Given the description of an element on the screen output the (x, y) to click on. 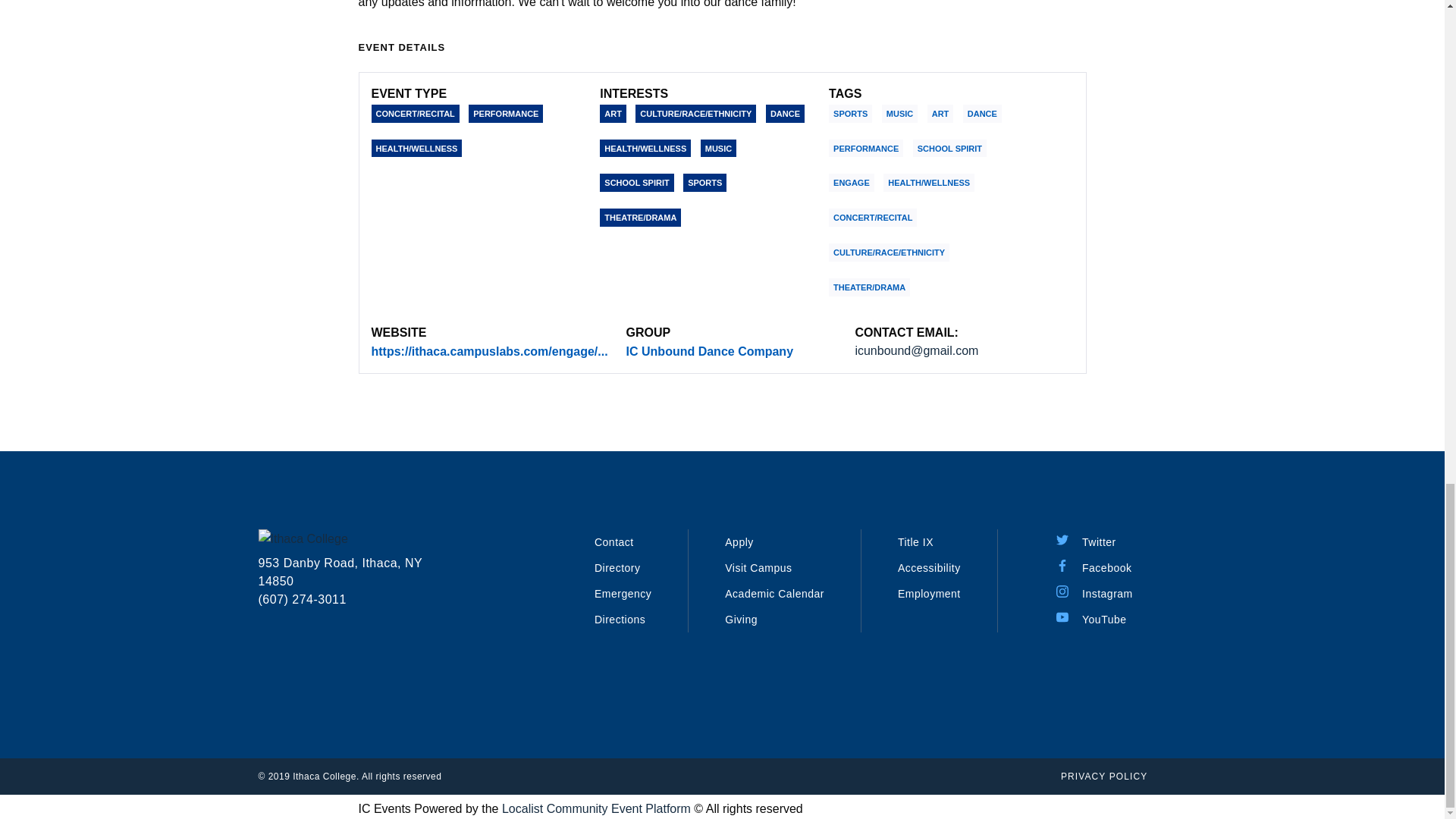
Apply to Ithaca College (739, 541)
Visit Ithaca College (758, 567)
istagram icon Created with Sketch. (1062, 591)
Driving directions to Ithaca College (619, 619)
facebook icon Created with Sketch. (1062, 565)
twitter icon Created with Sketch. (1062, 539)
Search current faculty, staff, and students (617, 567)
Accessibility at Ithaca College (929, 567)
youtube icon Created with Sketch. (1062, 616)
Academic Calendar (774, 593)
